Given the description of an element on the screen output the (x, y) to click on. 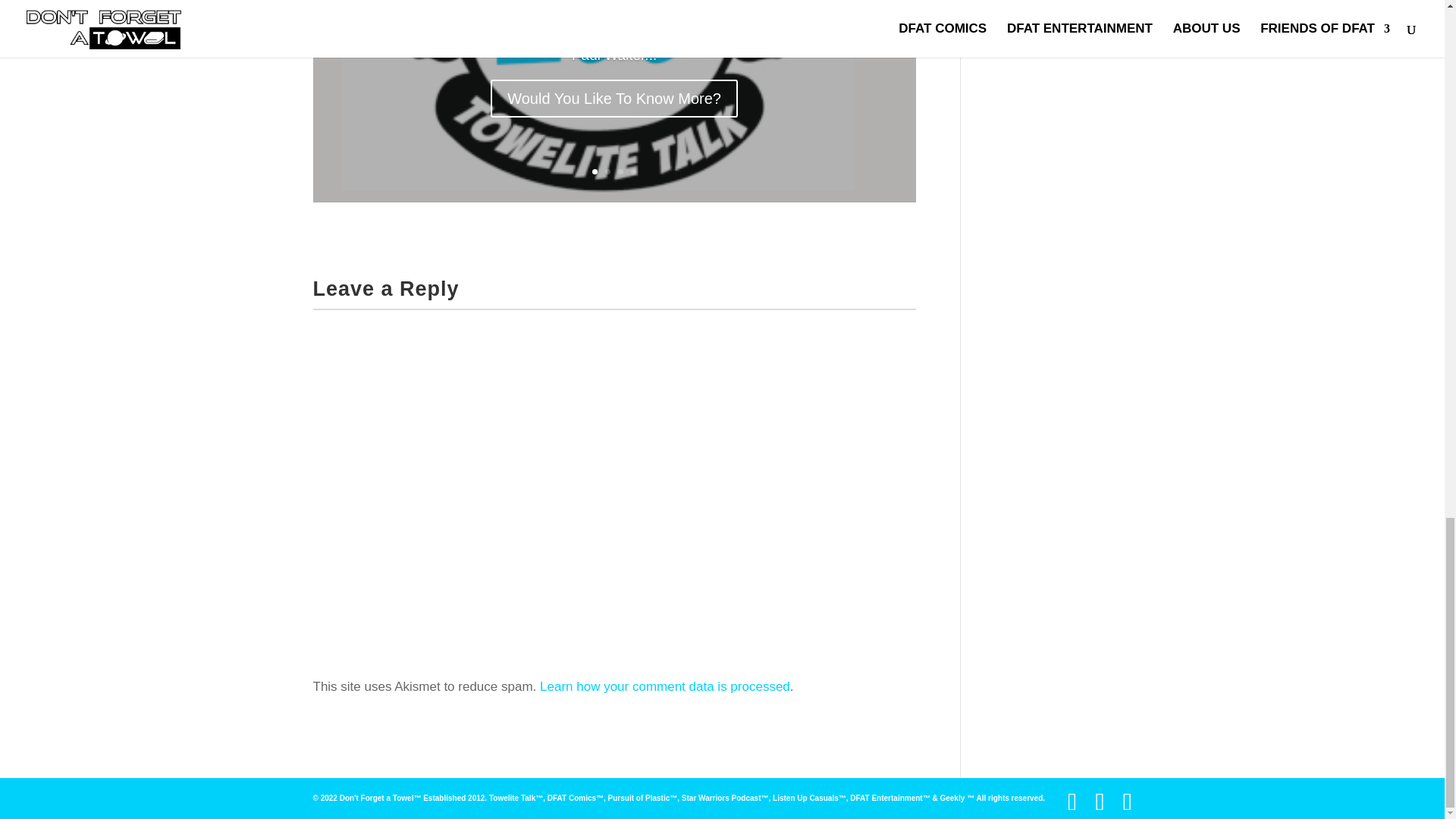
Movies (410, 0)
Music (443, 0)
